Given the description of an element on the screen output the (x, y) to click on. 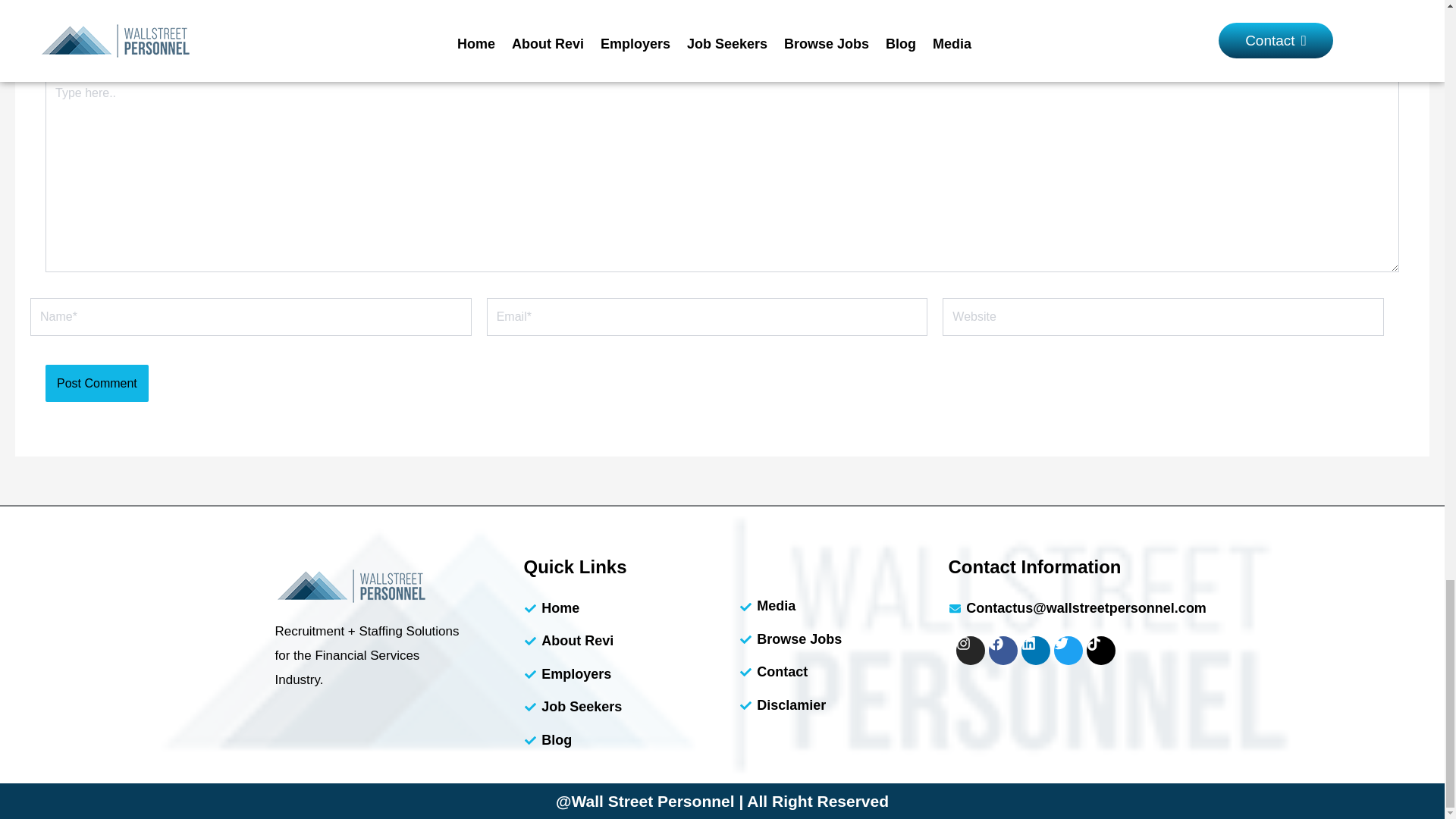
Post Comment (96, 383)
